Given the description of an element on the screen output the (x, y) to click on. 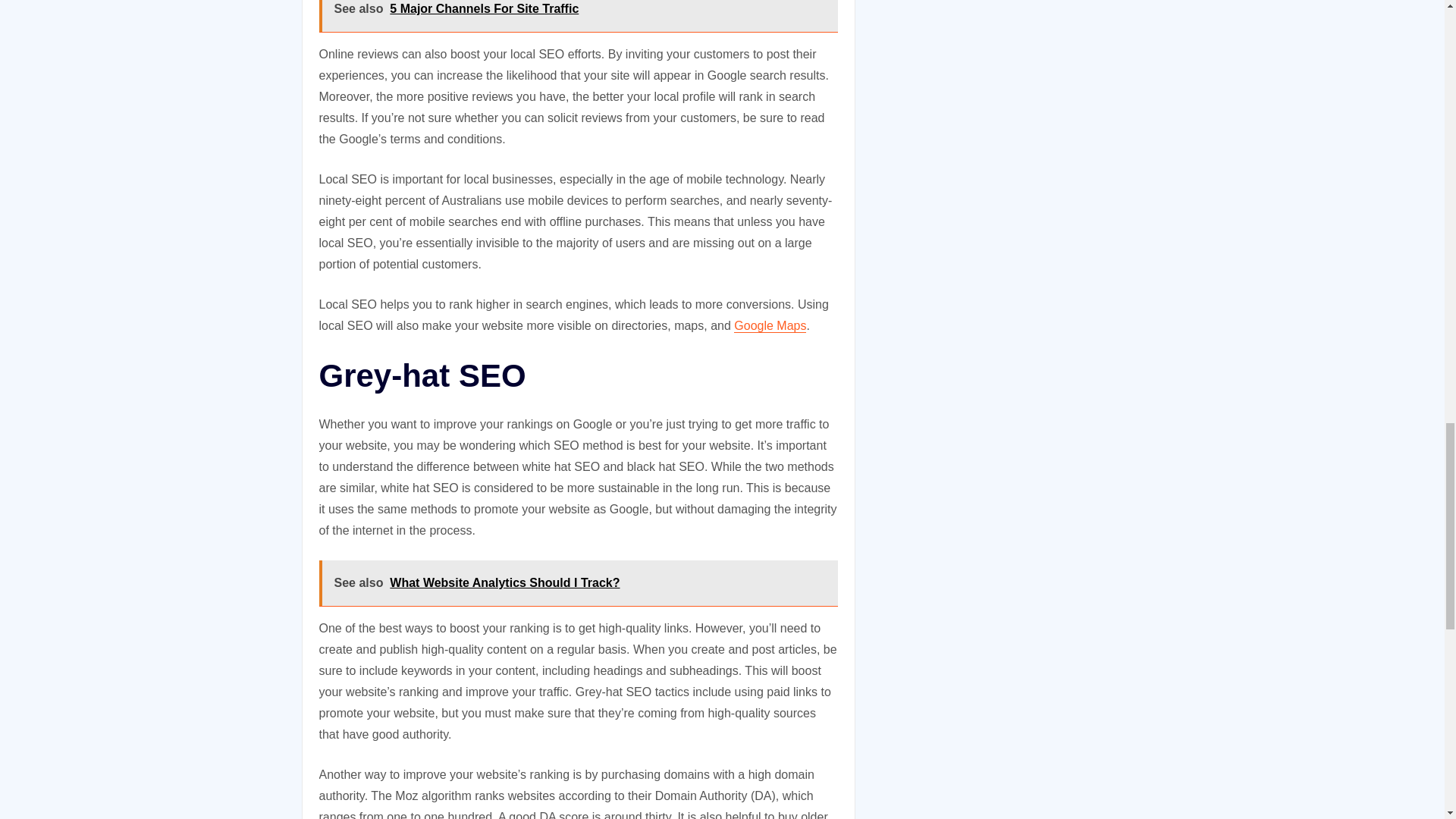
See also  5 Major Channels For Site Traffic (577, 15)
Google Maps Ranking (769, 325)
See also  What Website Analytics Should I Track? (577, 583)
Google Maps (769, 325)
